Given the description of an element on the screen output the (x, y) to click on. 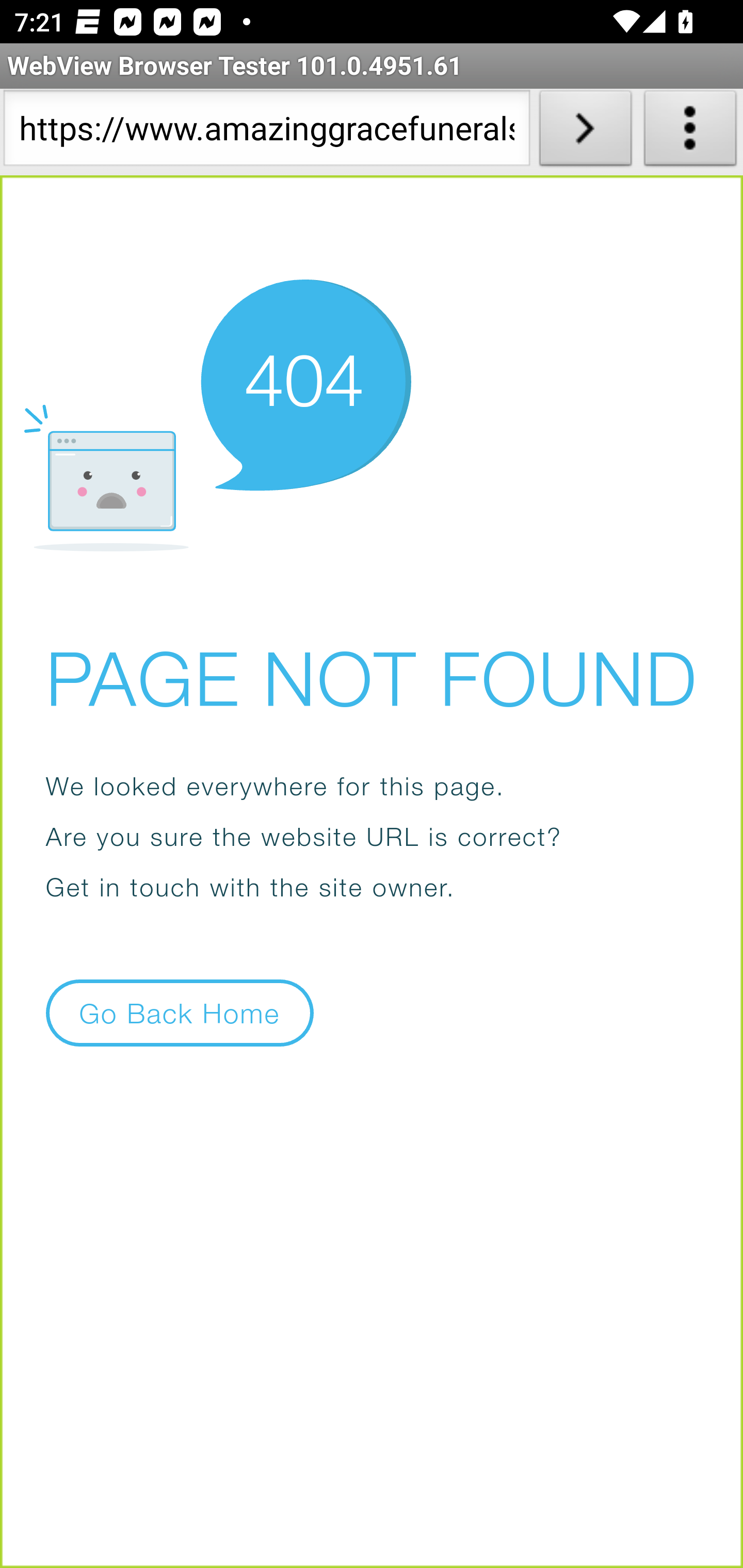
Load URL (585, 132)
About WebView (690, 132)
Go Back Home (179, 1012)
